Given the description of an element on the screen output the (x, y) to click on. 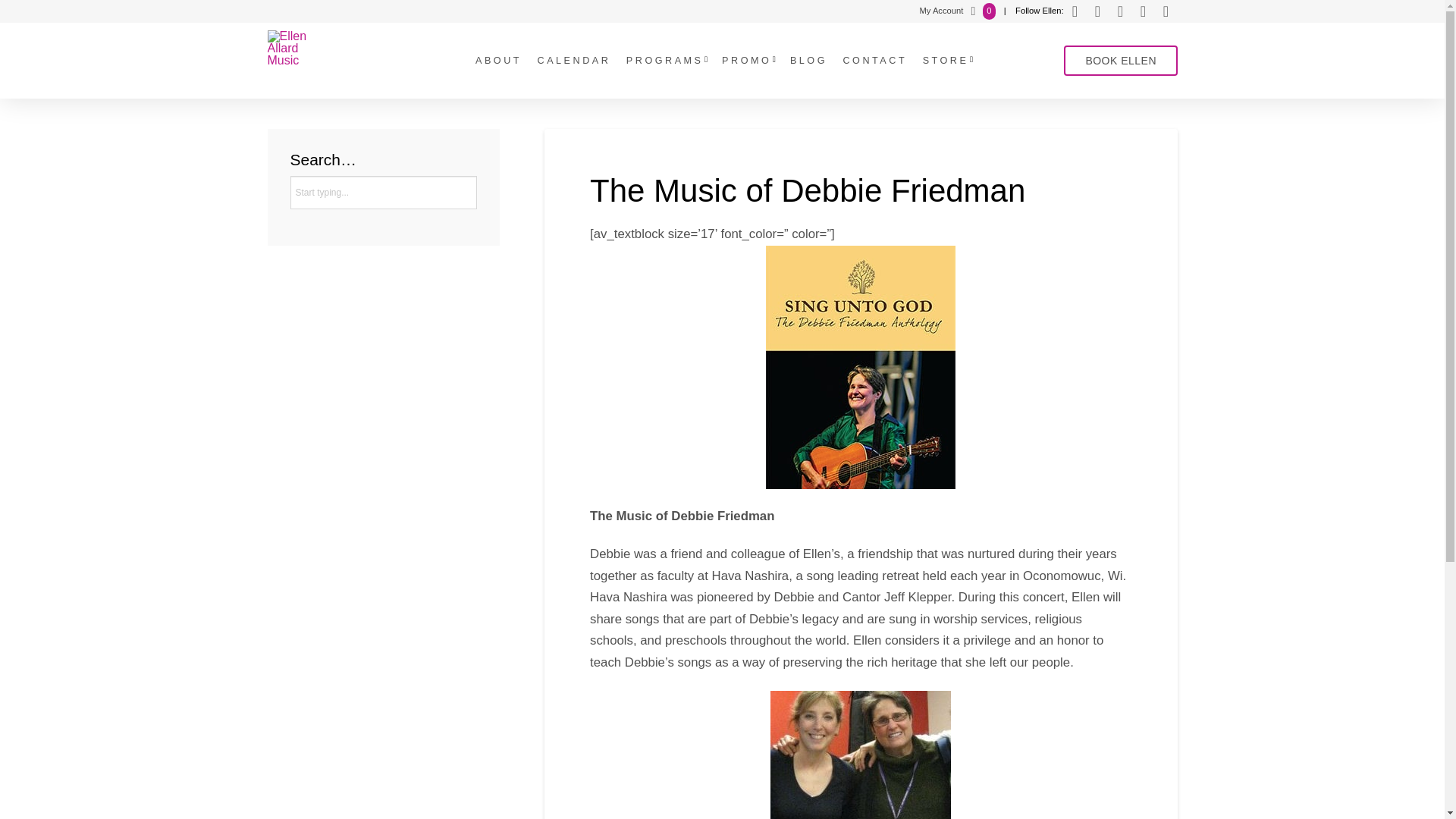
BLOG (807, 60)
STORE (946, 60)
CALENDAR (572, 60)
CONTACT (874, 60)
ABOUT (496, 60)
PROGRAMS (665, 60)
PROMO (746, 60)
My Account (940, 10)
